Given the description of an element on the screen output the (x, y) to click on. 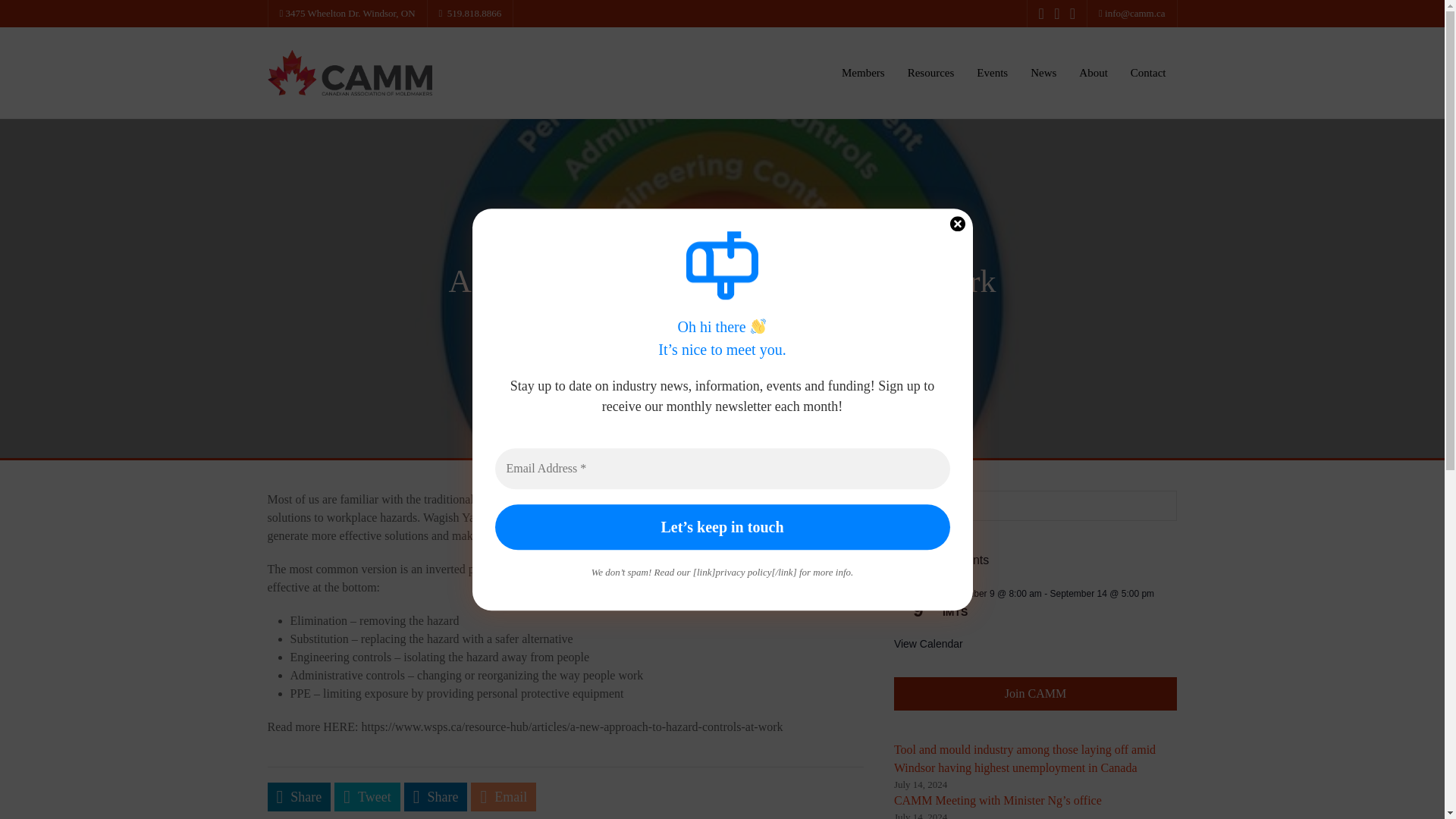
IMTS (955, 612)
IMTS (955, 612)
Join CAMM (1034, 693)
View more events. (927, 644)
Email Address (722, 467)
  519.818.8866 (470, 13)
View Calendar (927, 644)
 3475 Wheelton Dr. Windsor, ON (346, 13)
